Given the description of an element on the screen output the (x, y) to click on. 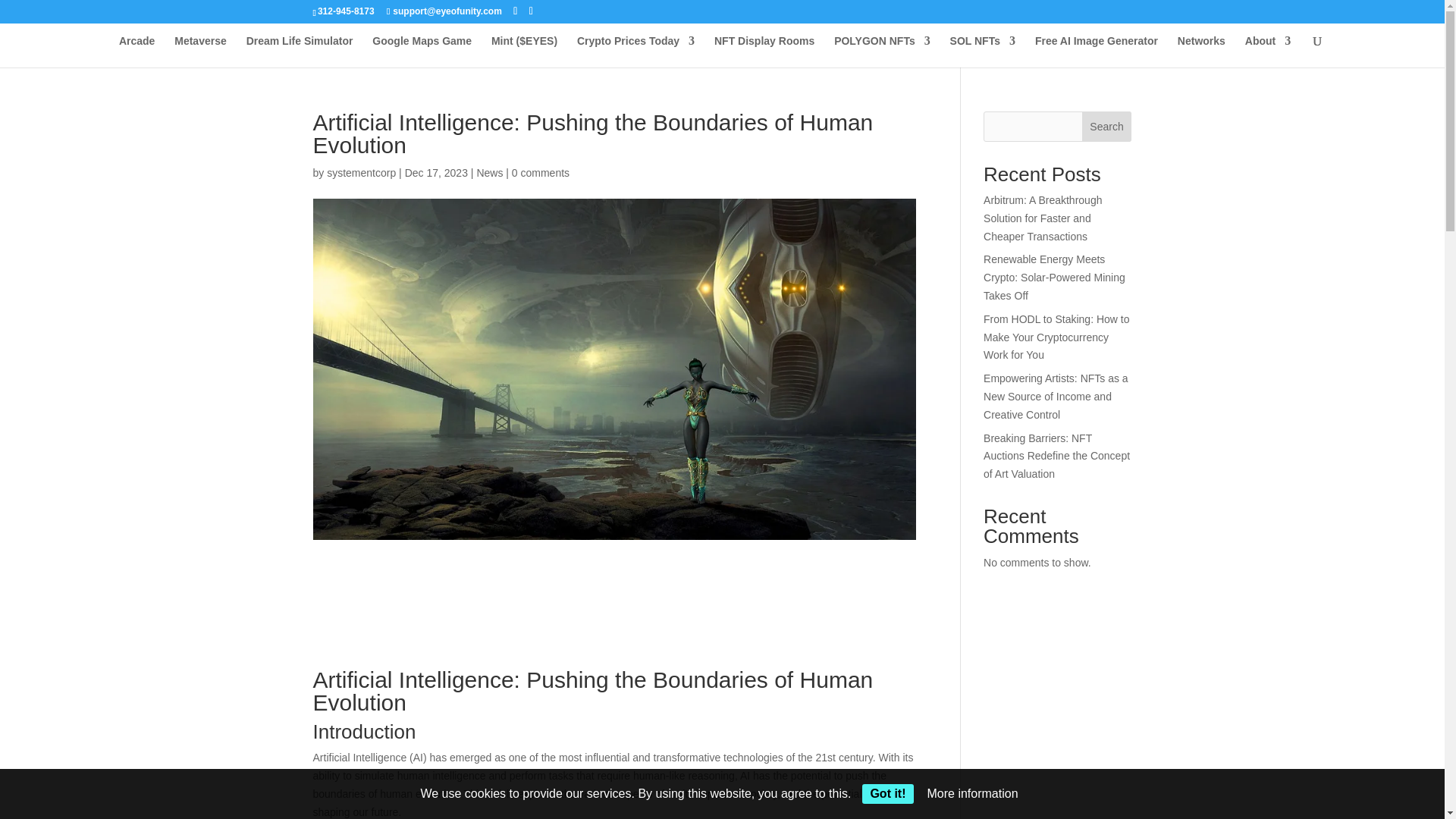
Networks (1201, 51)
More information (972, 793)
POLYGON NFTs (882, 51)
Crypto Prices Today (635, 51)
Arcade (136, 51)
Dream Life Simulator (299, 51)
Got it! (886, 793)
Free AI Image Generator (1096, 51)
Google Maps Game (421, 51)
About (1267, 51)
SOL NFTs (982, 51)
Metaverse (200, 51)
Posts by systementcorp (361, 173)
NFT Display Rooms (763, 51)
